Given the description of an element on the screen output the (x, y) to click on. 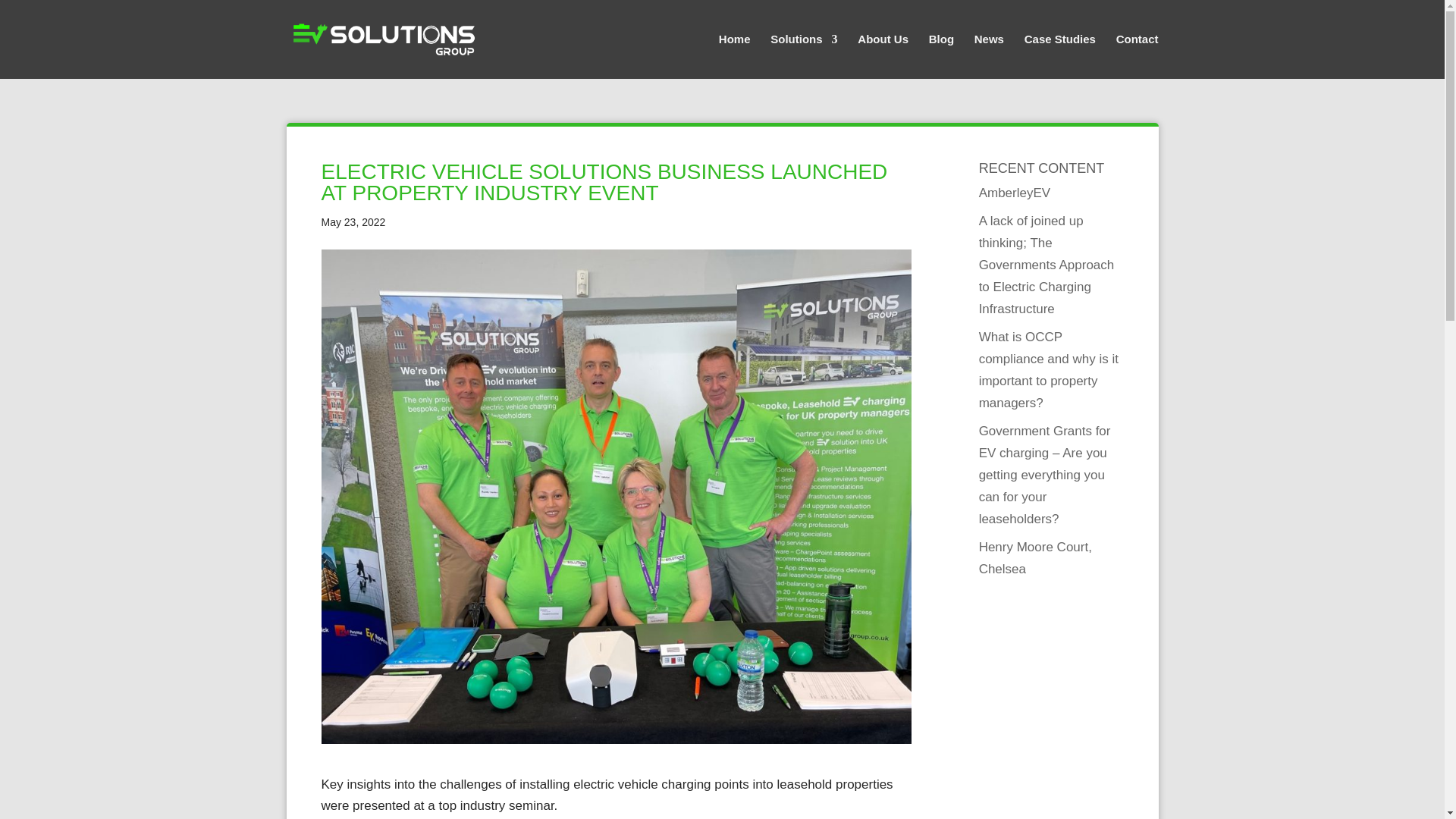
Home (735, 56)
Solutions (803, 56)
About Us (882, 56)
Case Studies (1060, 56)
News (989, 56)
Blog (940, 56)
Contact (1137, 56)
